Given the description of an element on the screen output the (x, y) to click on. 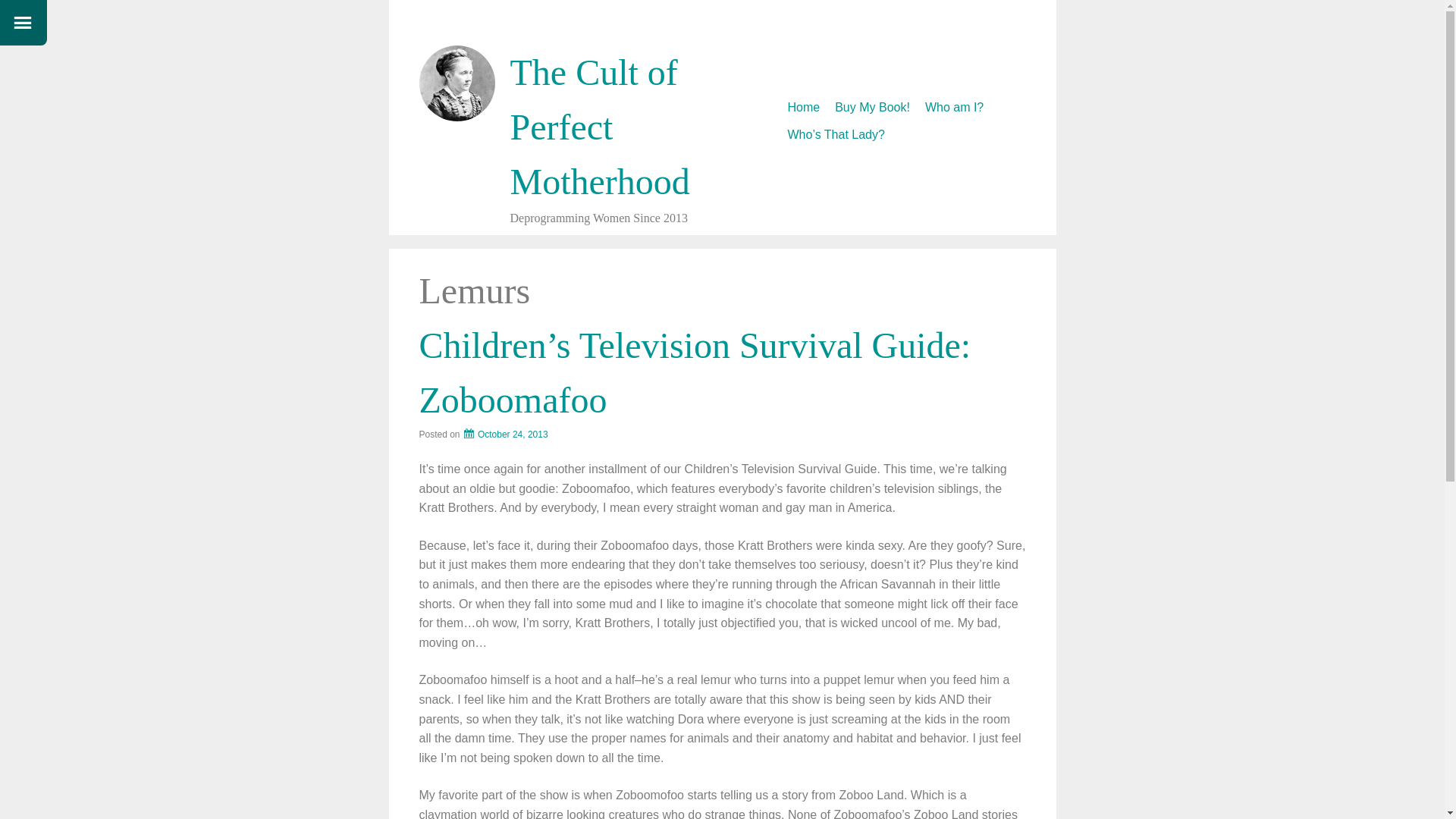
Who am I? (954, 107)
Skip to content (787, 98)
The Cult of Perfect Motherhood (598, 126)
Home (803, 107)
October 24, 2013 (505, 434)
Buy My Book! (871, 107)
